Given the description of an element on the screen output the (x, y) to click on. 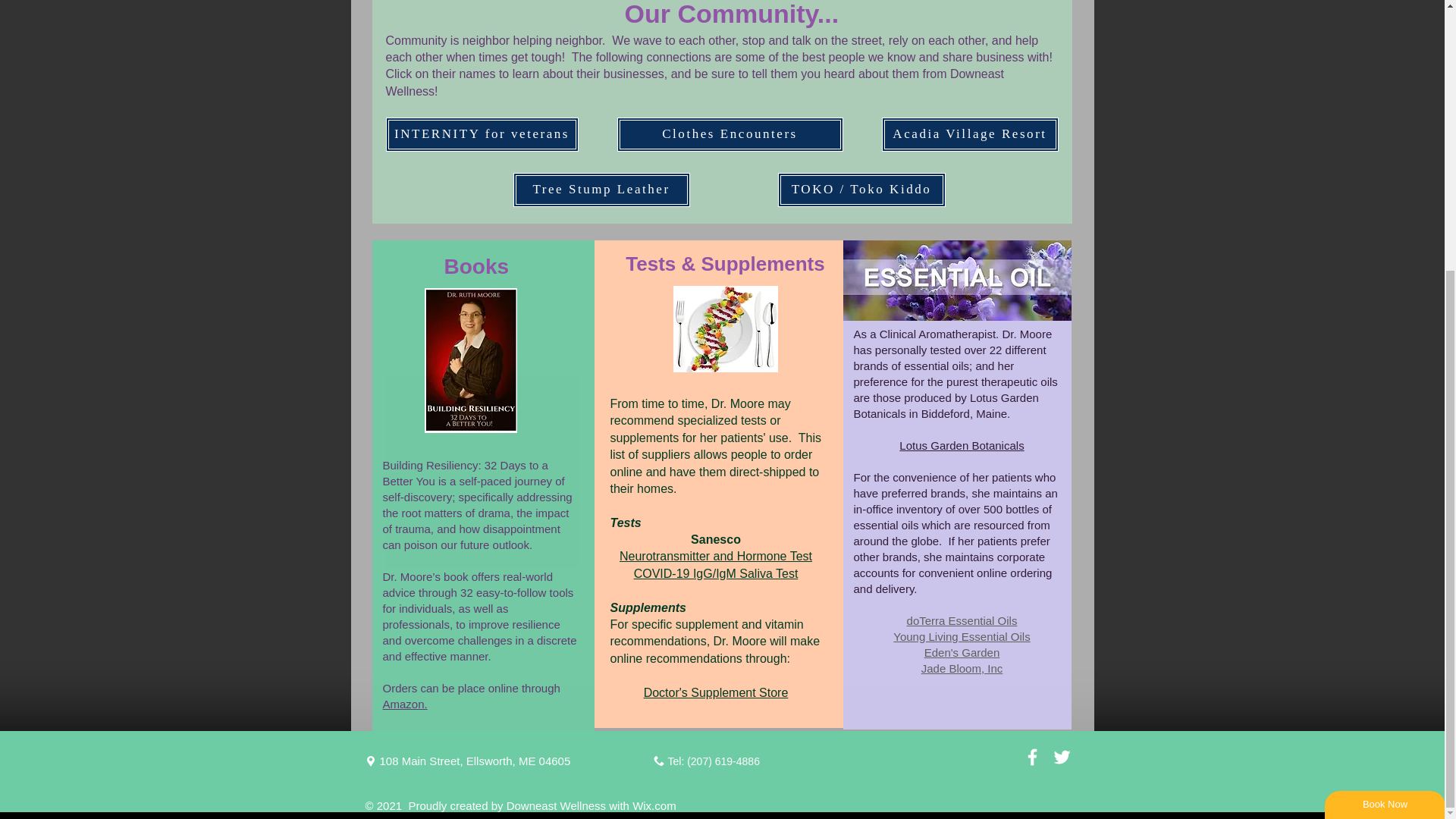
Doctor's Supplement Store (716, 692)
Eden's Garden (962, 652)
Jade Bloom, Inc (962, 667)
Young Living Essential Oils (961, 635)
Wix.com (654, 805)
Neurotransmitter and Hormone Test (716, 555)
Acadia Village Resort (969, 134)
Clothes Encounters (730, 134)
Amazon. (403, 703)
Lotus Garden Botanicals (961, 445)
doTerra Essential Oils (962, 620)
INTERNITY for veterans (481, 134)
Tree Stump Leather (600, 189)
